Given the description of an element on the screen output the (x, y) to click on. 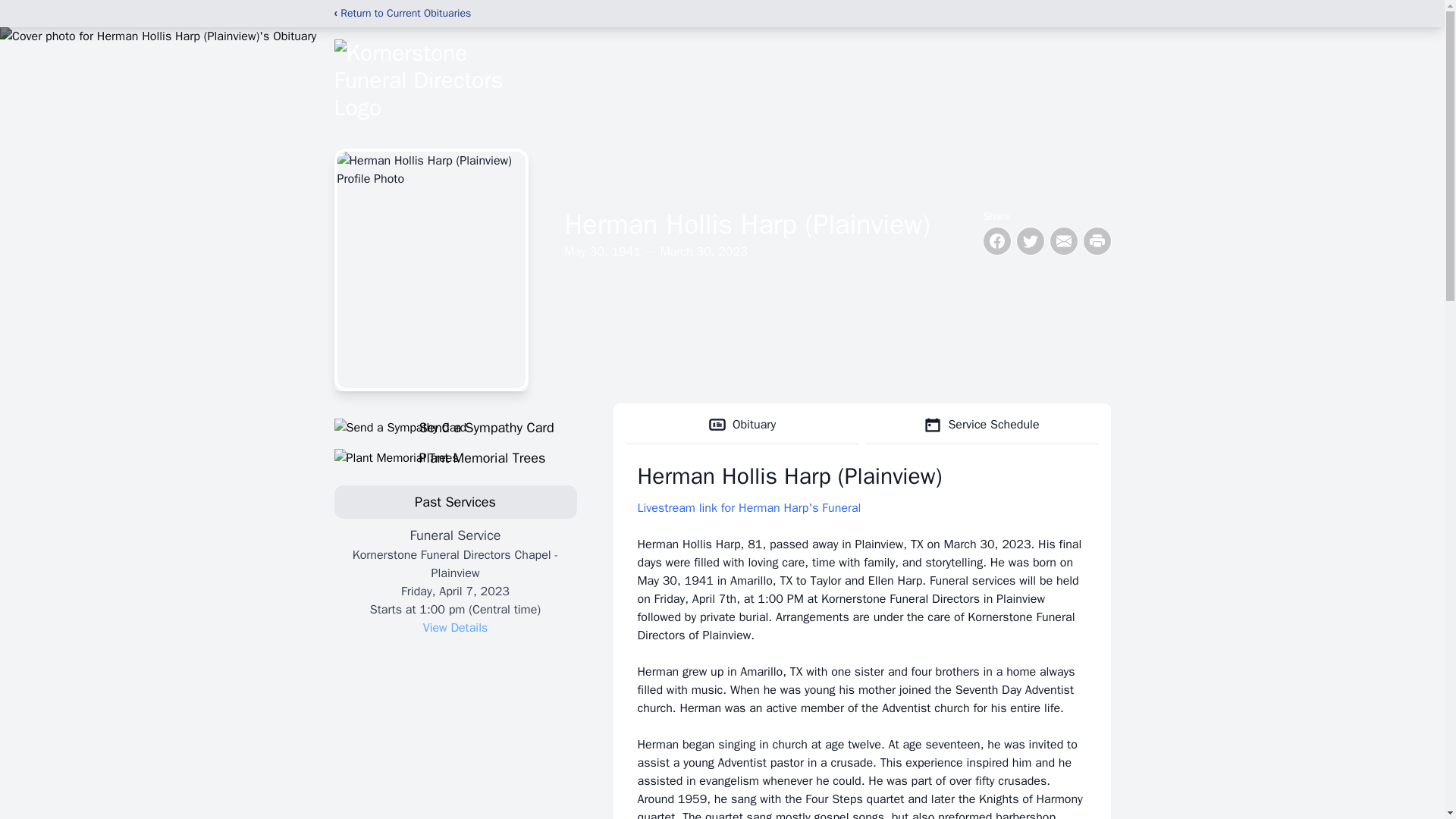
Livestream link for Herman Harp's Funeral (748, 507)
Plant Memorial Trees (454, 457)
View Details (455, 627)
Send a Sympathy Card (454, 427)
Obituary (741, 425)
Service Schedule (980, 425)
